Given the description of an element on the screen output the (x, y) to click on. 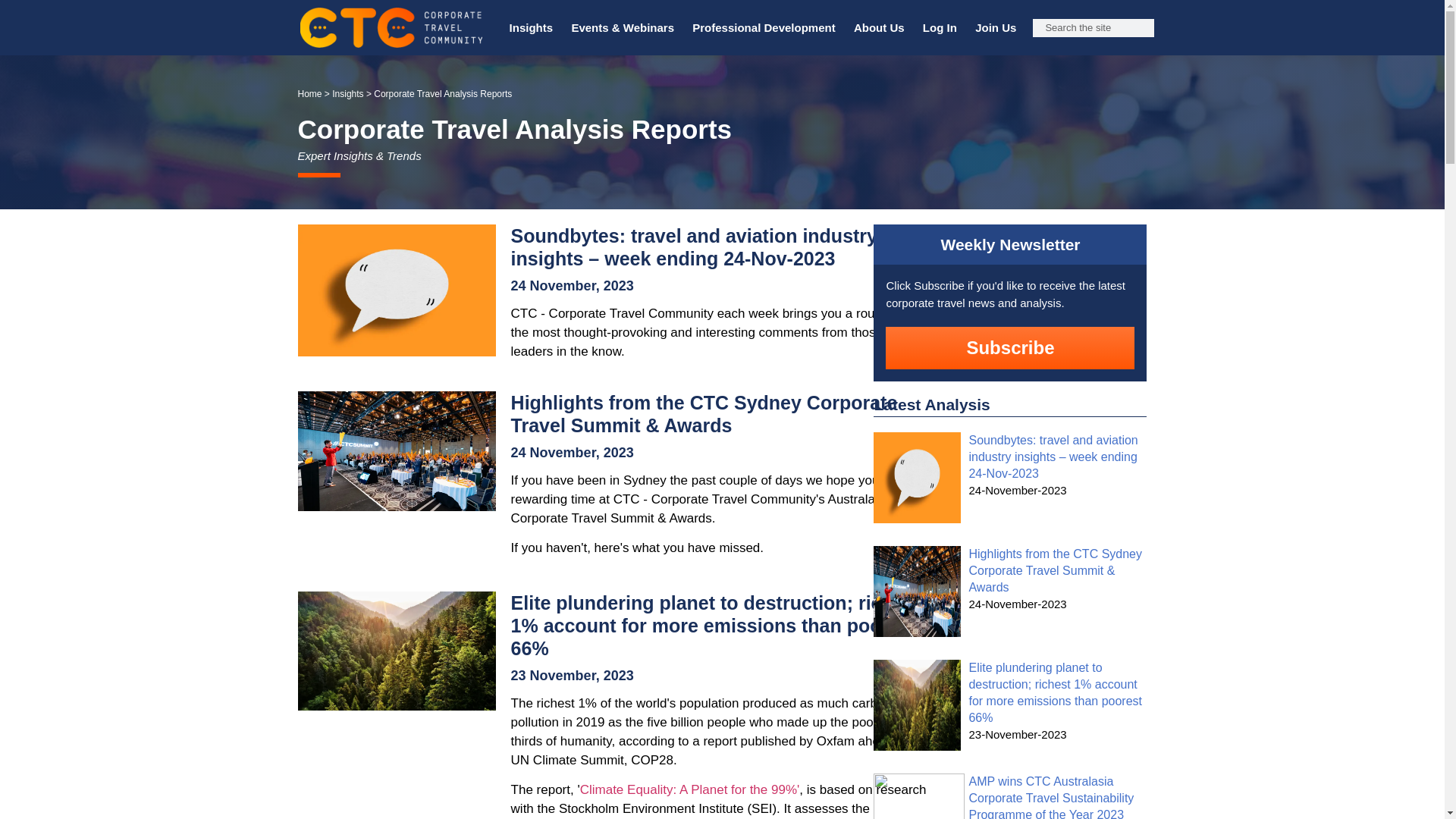
Insights (530, 27)
logo-header (390, 27)
Join Us (995, 27)
Log In (940, 27)
Professional Development (763, 27)
About Us (879, 27)
